Given the description of an element on the screen output the (x, y) to click on. 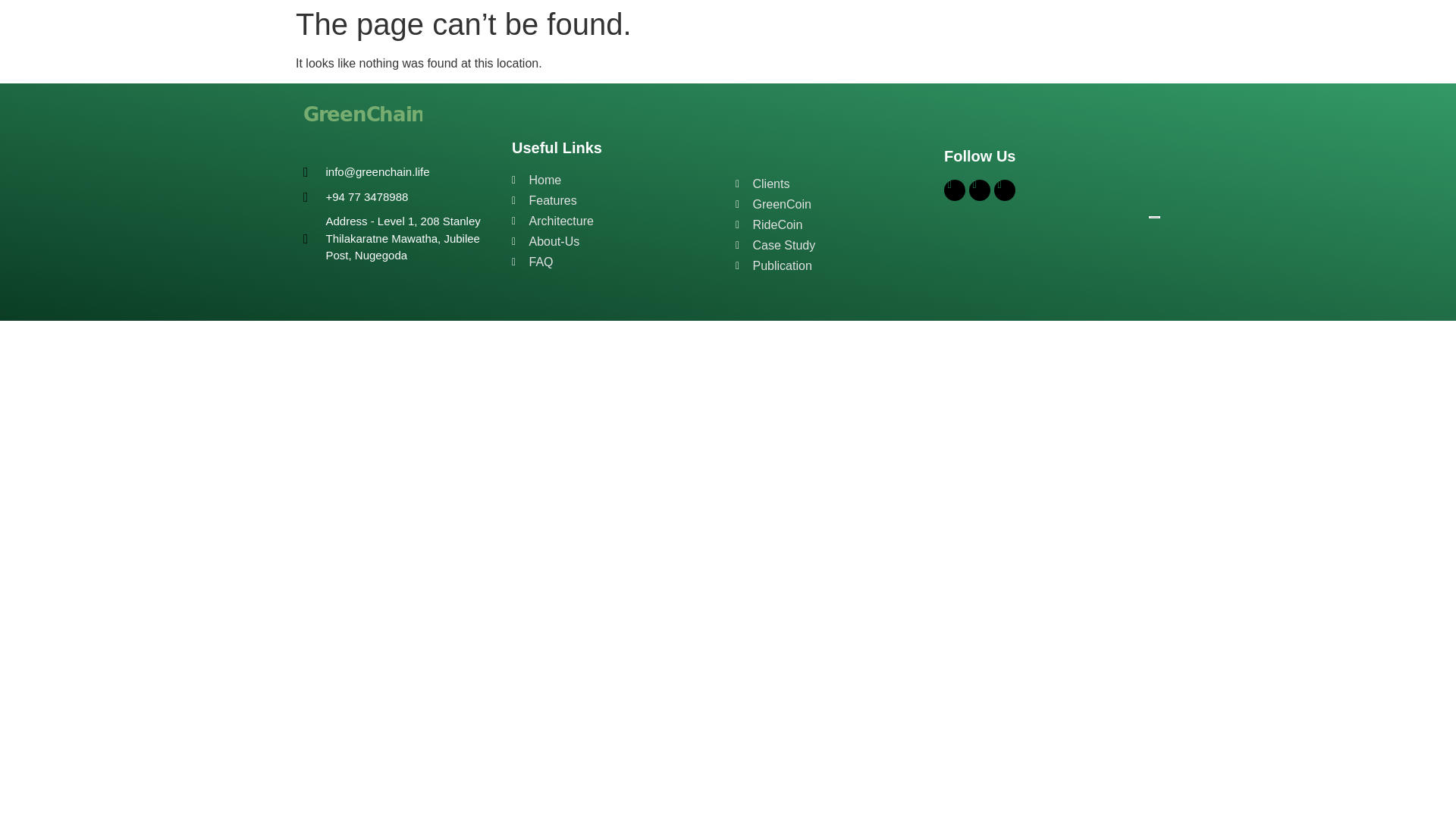
sumawisata (992, 297)
Presidenttoto (996, 224)
GreenCoin (835, 204)
Architecture (620, 221)
About-Us (620, 241)
keywordkingsdom (1009, 242)
FAQ (620, 262)
Publication (835, 266)
Home (620, 180)
Clients (835, 184)
